Given the description of an element on the screen output the (x, y) to click on. 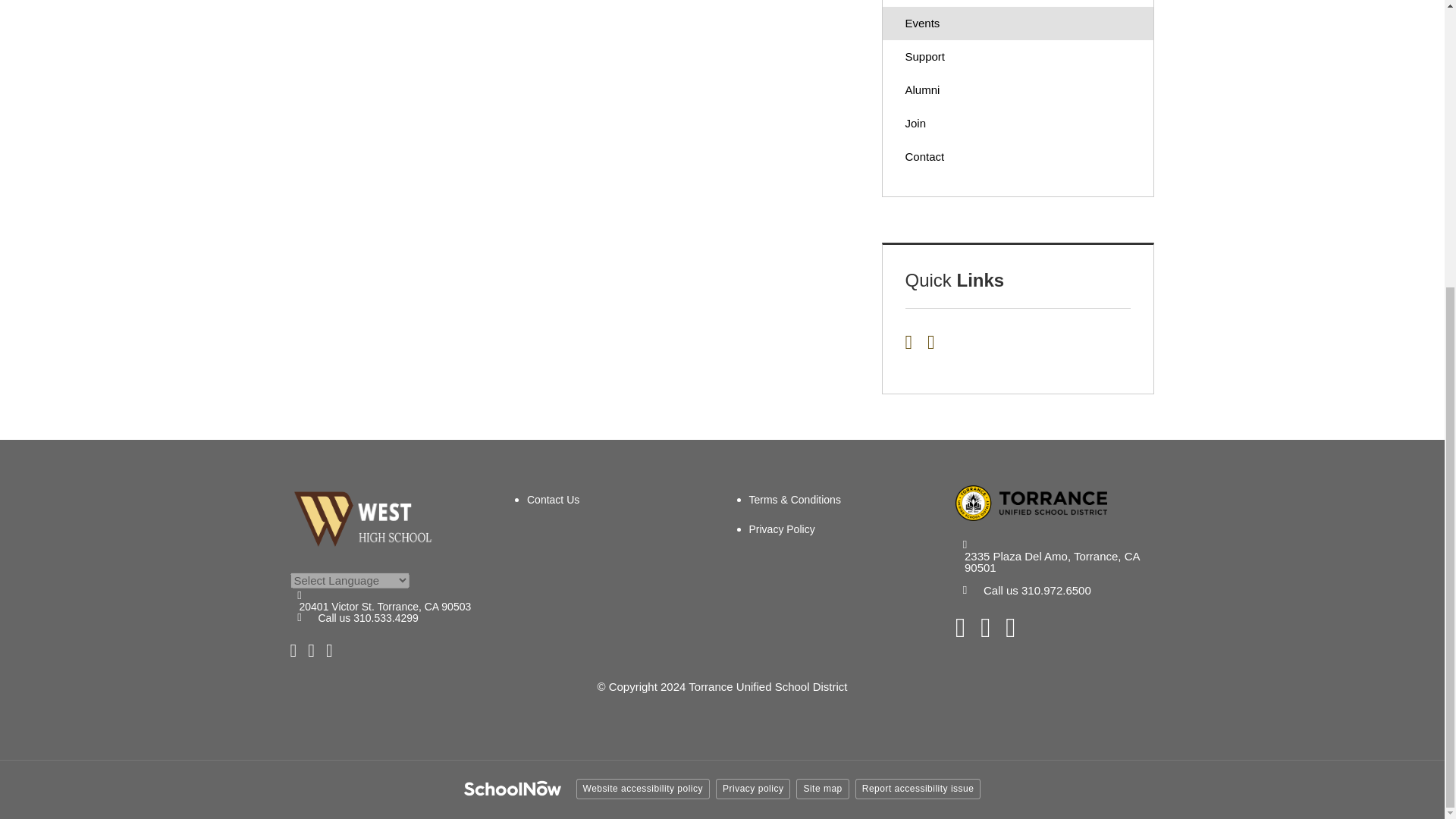
SchoolNow website link (512, 789)
Contact Us - Footer link (553, 499)
